Given the description of an element on the screen output the (x, y) to click on. 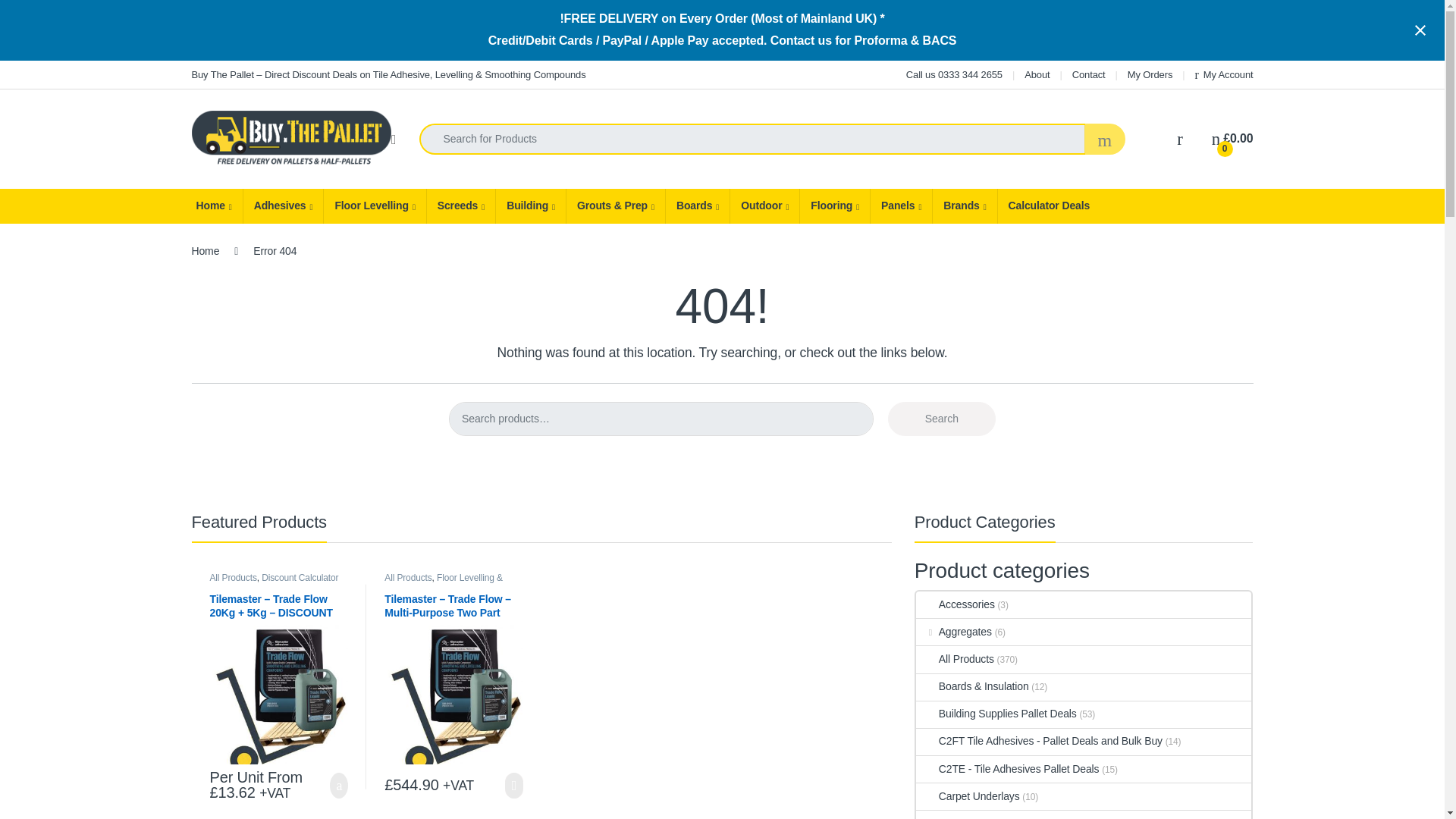
Call us 0333 344 2655 (954, 74)
My Orders (1149, 74)
My Account (1224, 74)
My Orders (1149, 74)
About (1037, 74)
Call us 0333 344 2655 (954, 74)
My Account (1224, 74)
Contact (1088, 74)
Contact (1088, 74)
About (1037, 74)
